Given the description of an element on the screen output the (x, y) to click on. 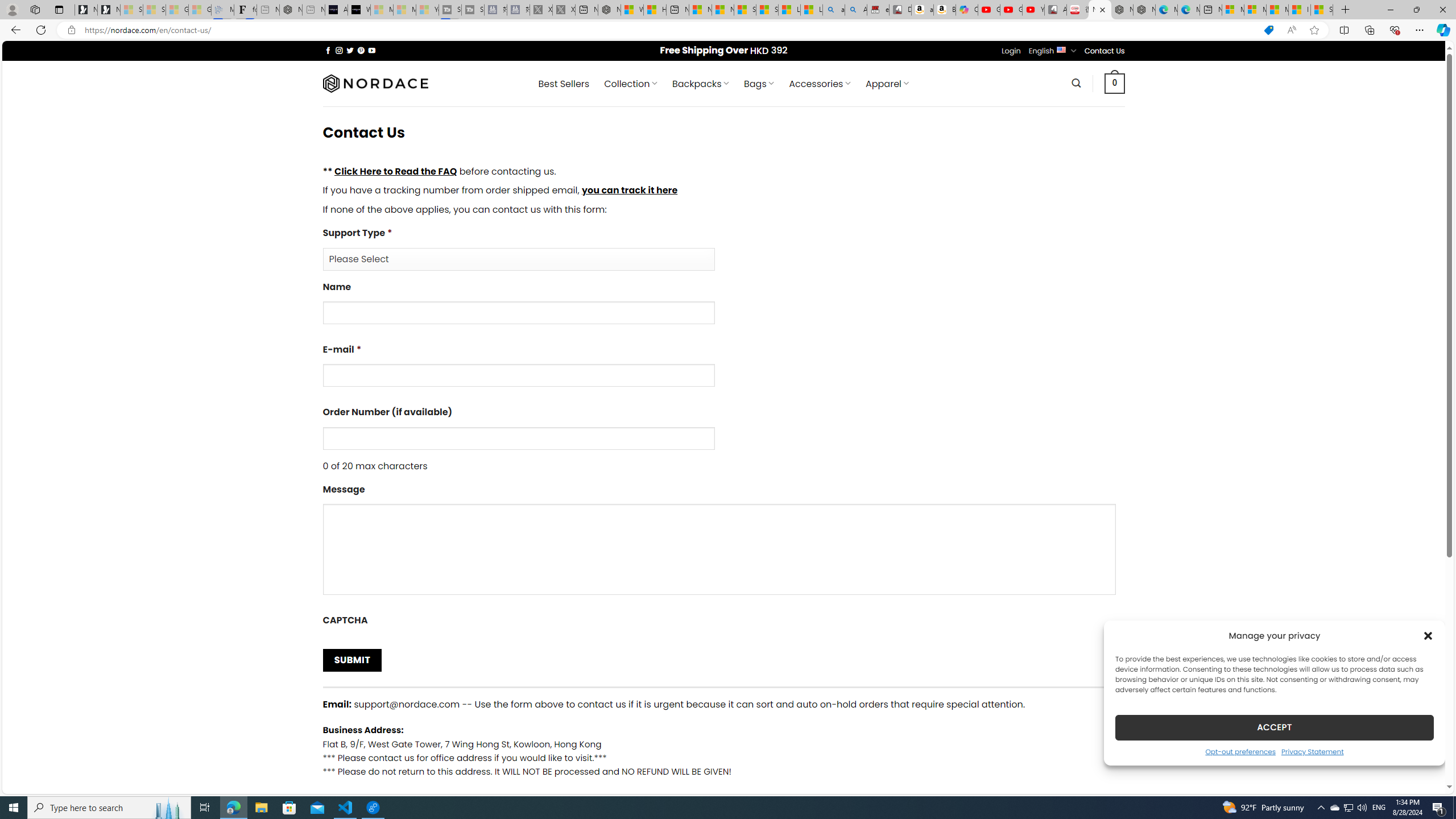
Microsoft Start Sports - Sleeping (381, 9)
ACCEPT (1274, 727)
amazon.in/dp/B0CX59H5W7/?tag=gsmcom05-21 (923, 9)
Microsoft account | Privacy (1255, 9)
Message (723, 543)
Restore (1416, 9)
Collections (1369, 29)
Workspaces (34, 9)
